Given the description of an element on the screen output the (x, y) to click on. 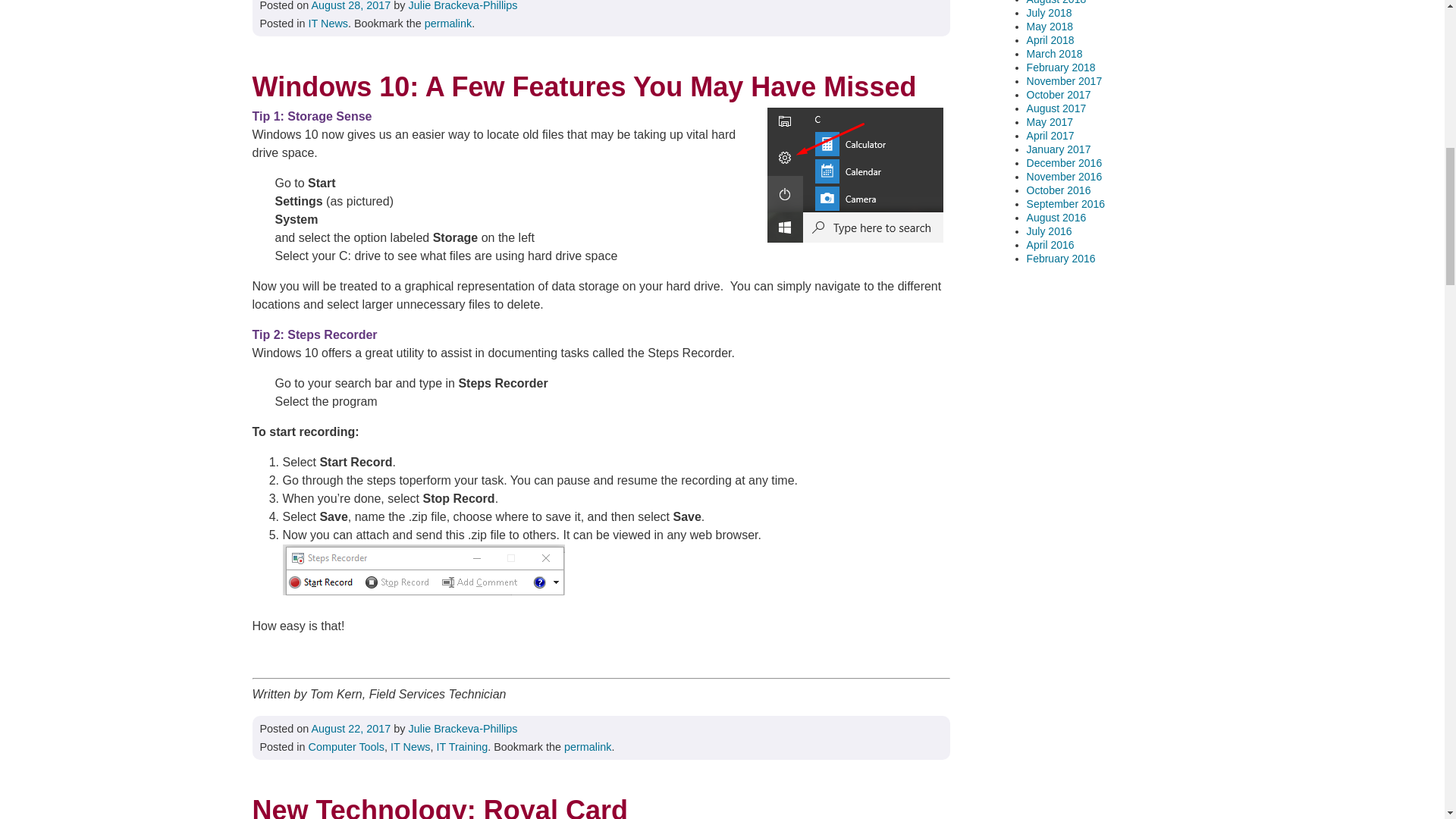
4:18 pm (351, 728)
August 22, 2017 (351, 728)
IT Training (461, 746)
Permalink to Service Status Website (448, 23)
Windows 10:  A Few Features You May Have Missed (600, 86)
Permalink to Windows 10:  A Few Features You May Have Missed (587, 746)
Computer Tools (345, 746)
August 28, 2017 (351, 5)
Julie Brackeva-Phillips (463, 5)
permalink (587, 746)
